Given the description of an element on the screen output the (x, y) to click on. 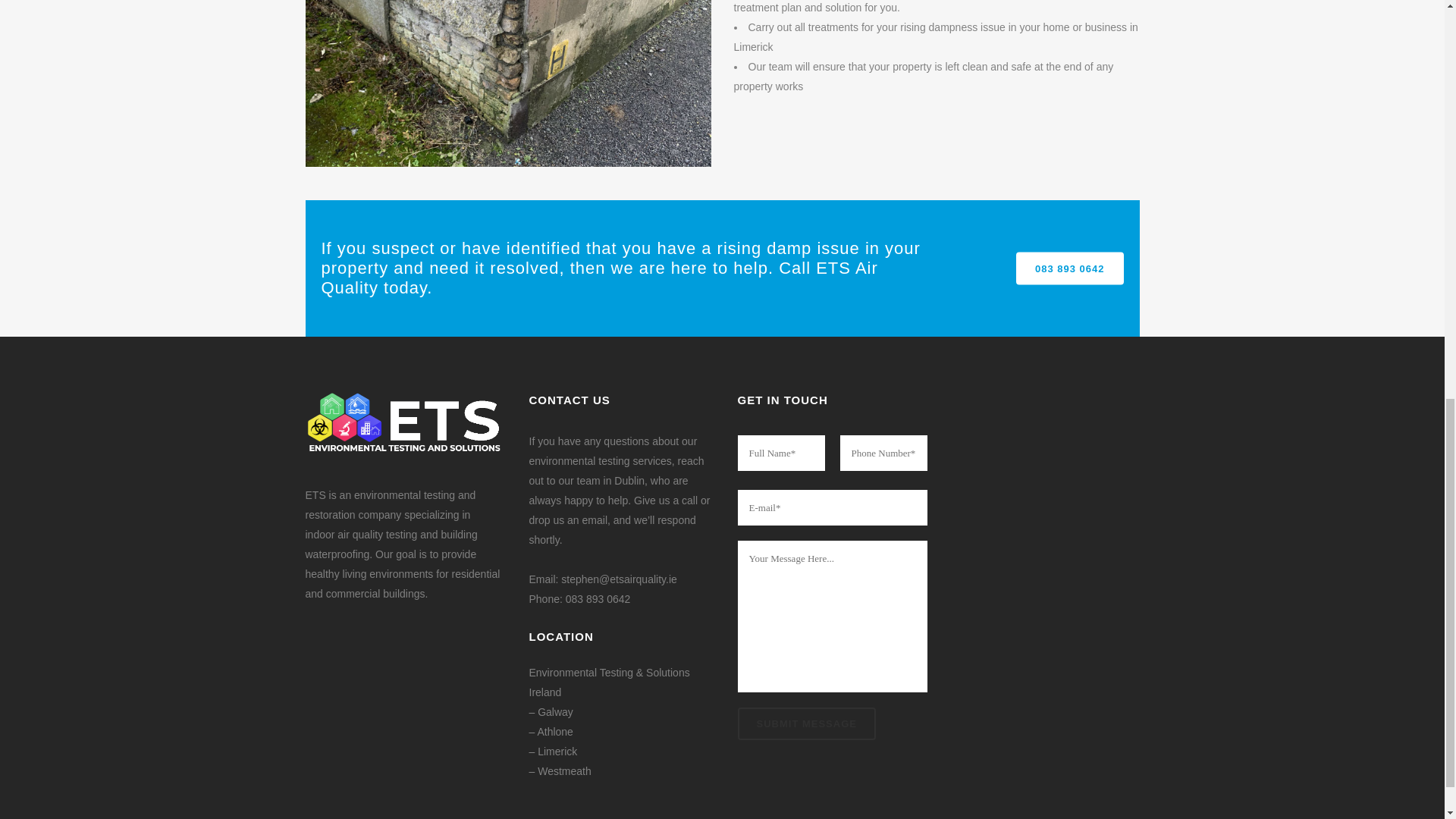
rising-damp-800-500-min (507, 83)
Submit Message (805, 723)
083 893 0642 (598, 598)
083 893 0642 (1070, 267)
Submit Message (805, 723)
